Given the description of an element on the screen output the (x, y) to click on. 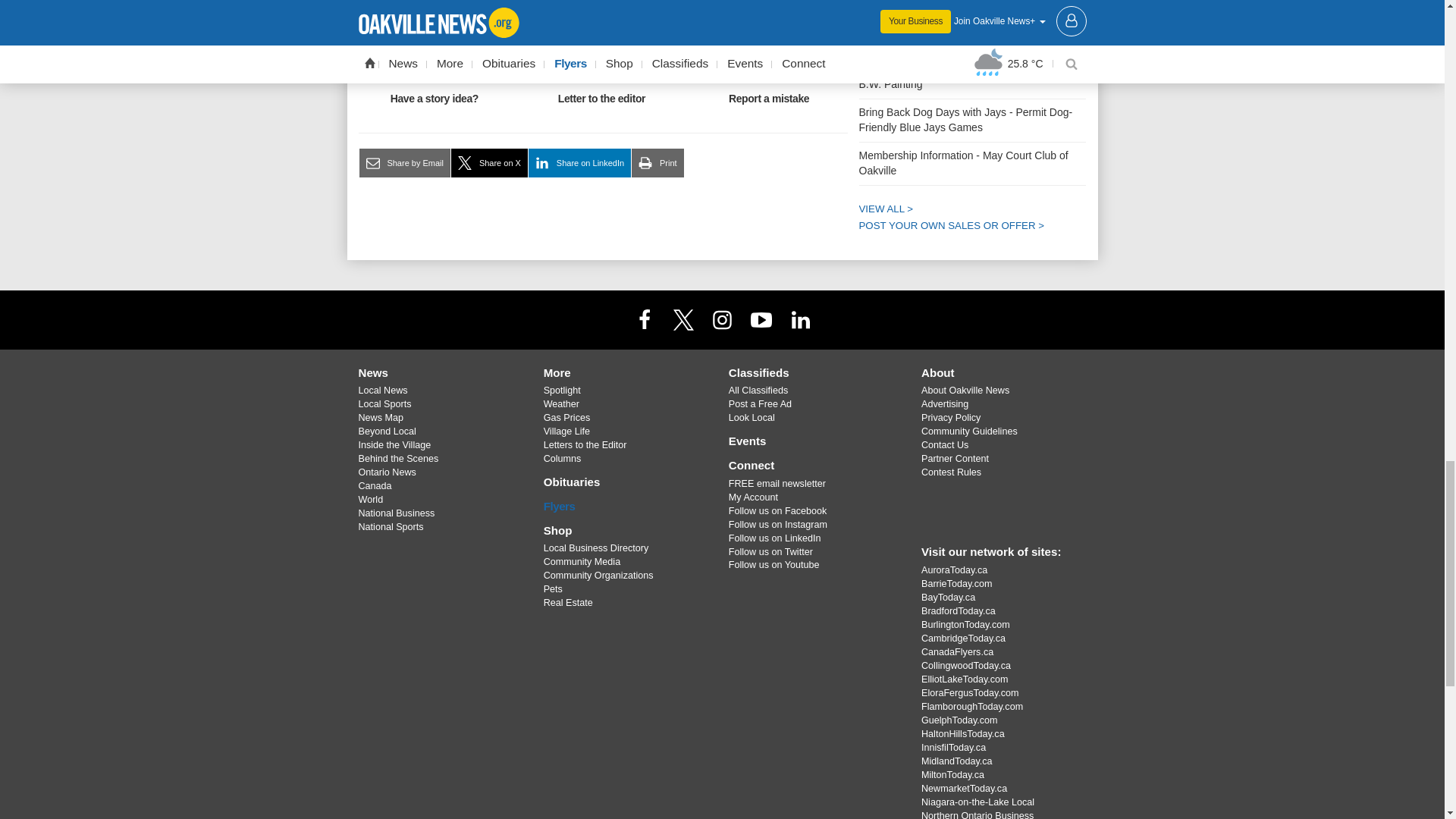
Facebook (644, 318)
Instagram (721, 318)
X (683, 318)
YouTube (760, 318)
LinkedIn (800, 318)
